Given the description of an element on the screen output the (x, y) to click on. 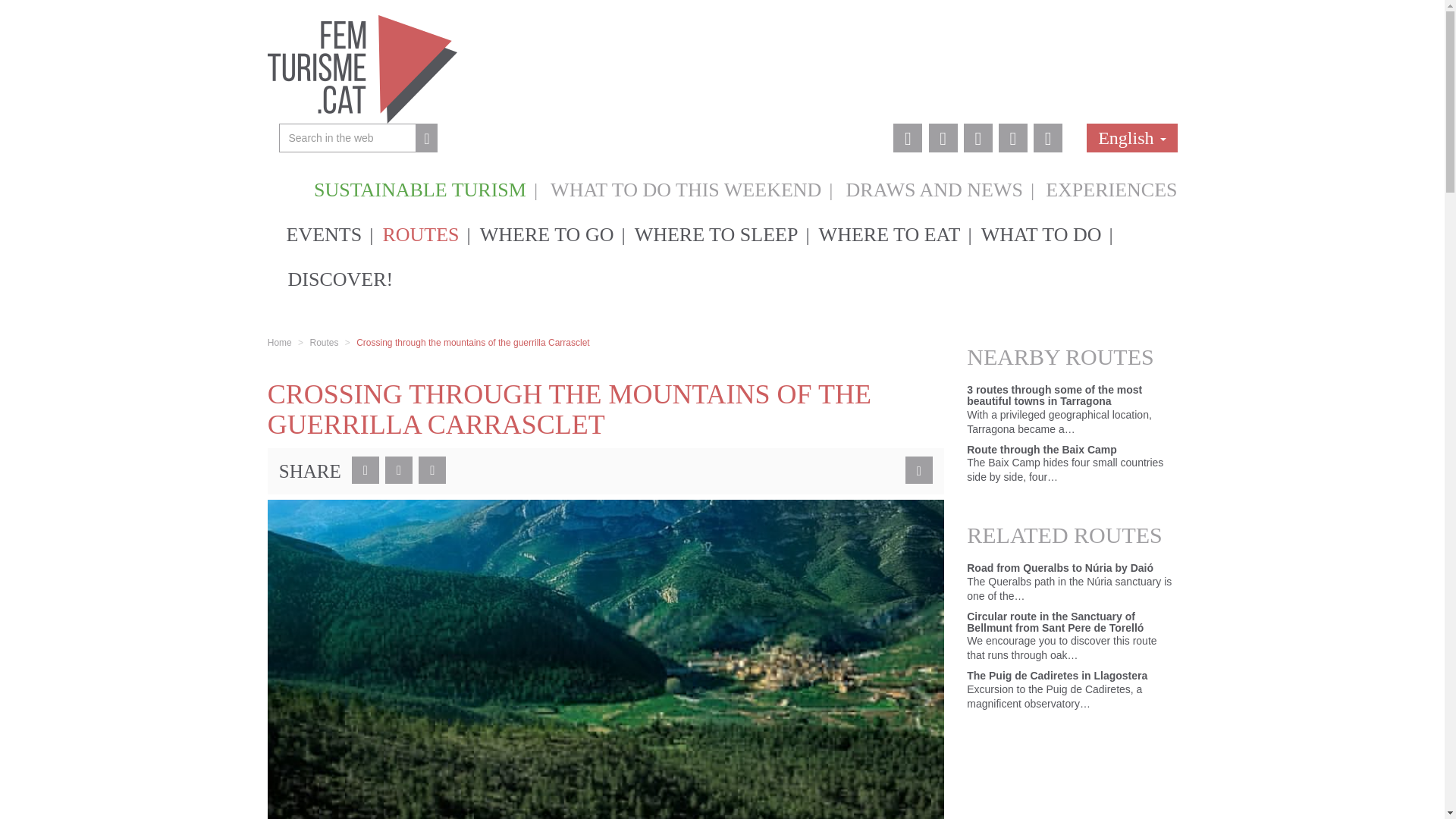
What to do this weekend (685, 185)
Sustainable turism (419, 185)
SUSTAINABLE TURISM (419, 185)
WHERE TO SLEEP (718, 234)
EXPERIENCES (1104, 185)
Where to go (548, 234)
ROUTES (422, 234)
femturisme in linkedin (1012, 137)
Home (279, 342)
DISCOVER! (337, 279)
